Given the description of an element on the screen output the (x, y) to click on. 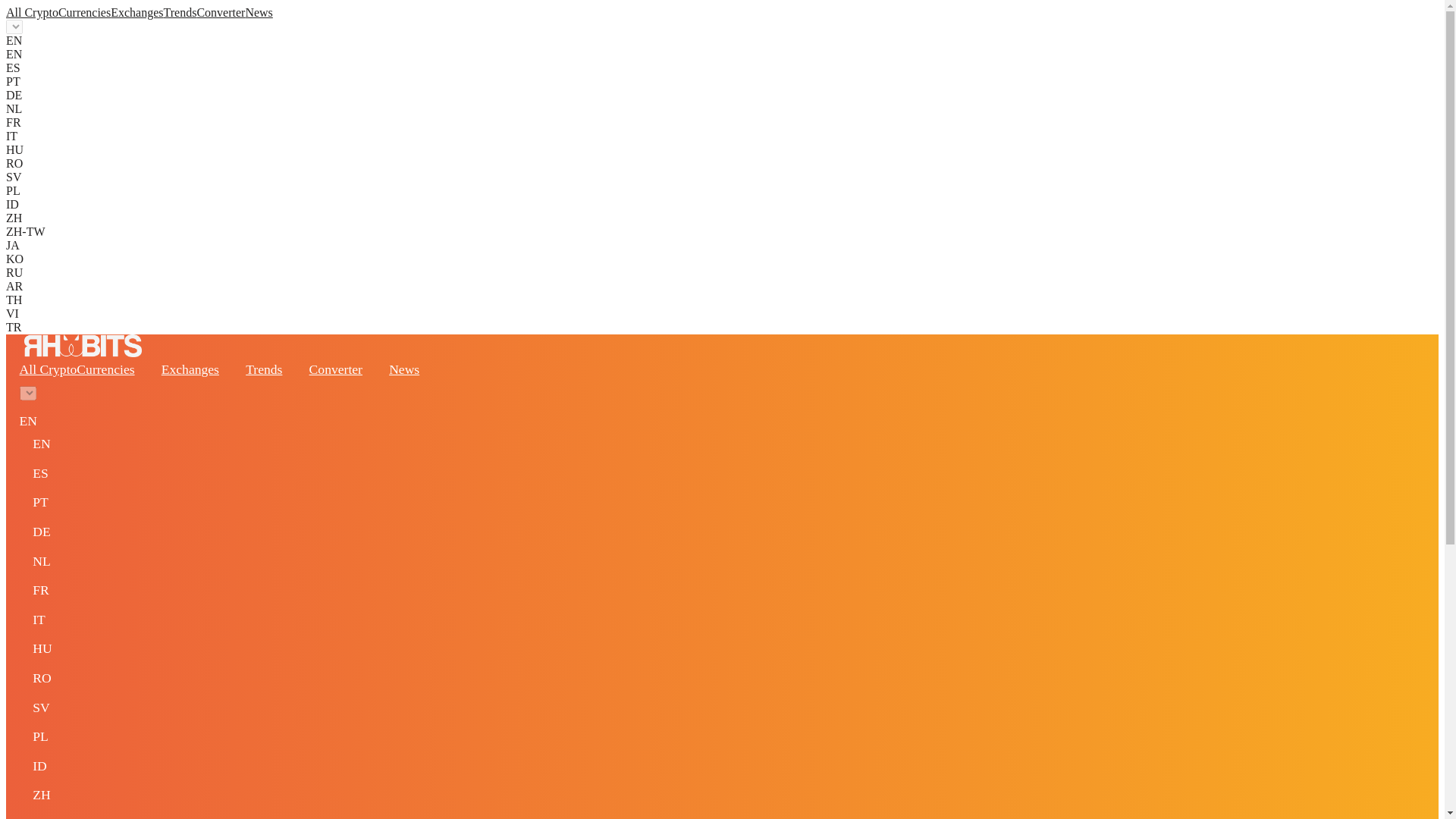
News (258, 11)
News (403, 369)
All CryptoCurrencies (76, 369)
Exchanges (189, 369)
Converter (335, 369)
Trends (179, 11)
All CryptoCurrencies (57, 11)
Trends (263, 369)
Exchanges (136, 11)
Converter (220, 11)
